Given the description of an element on the screen output the (x, y) to click on. 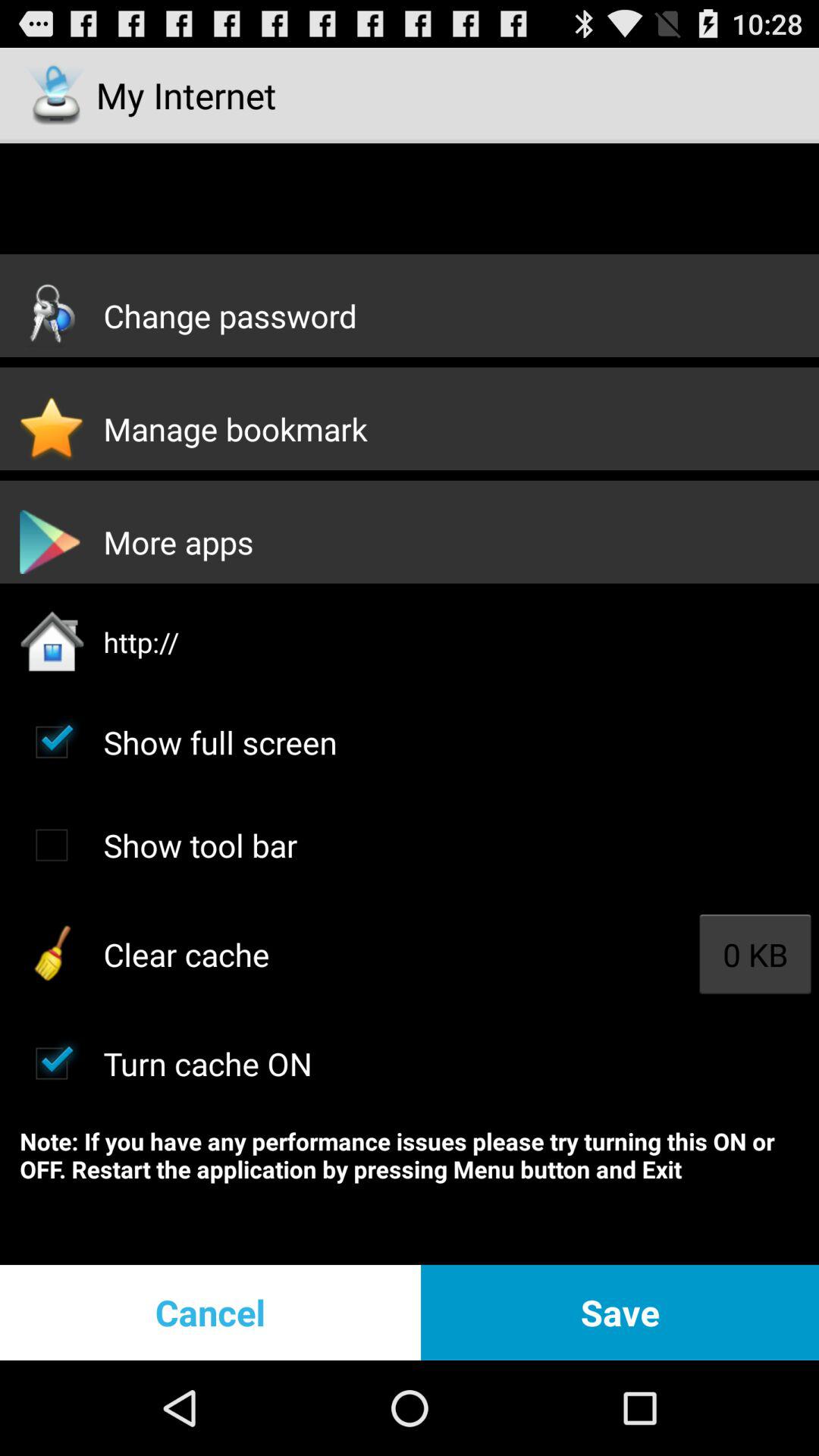
uncheck the box (51, 1063)
